Given the description of an element on the screen output the (x, y) to click on. 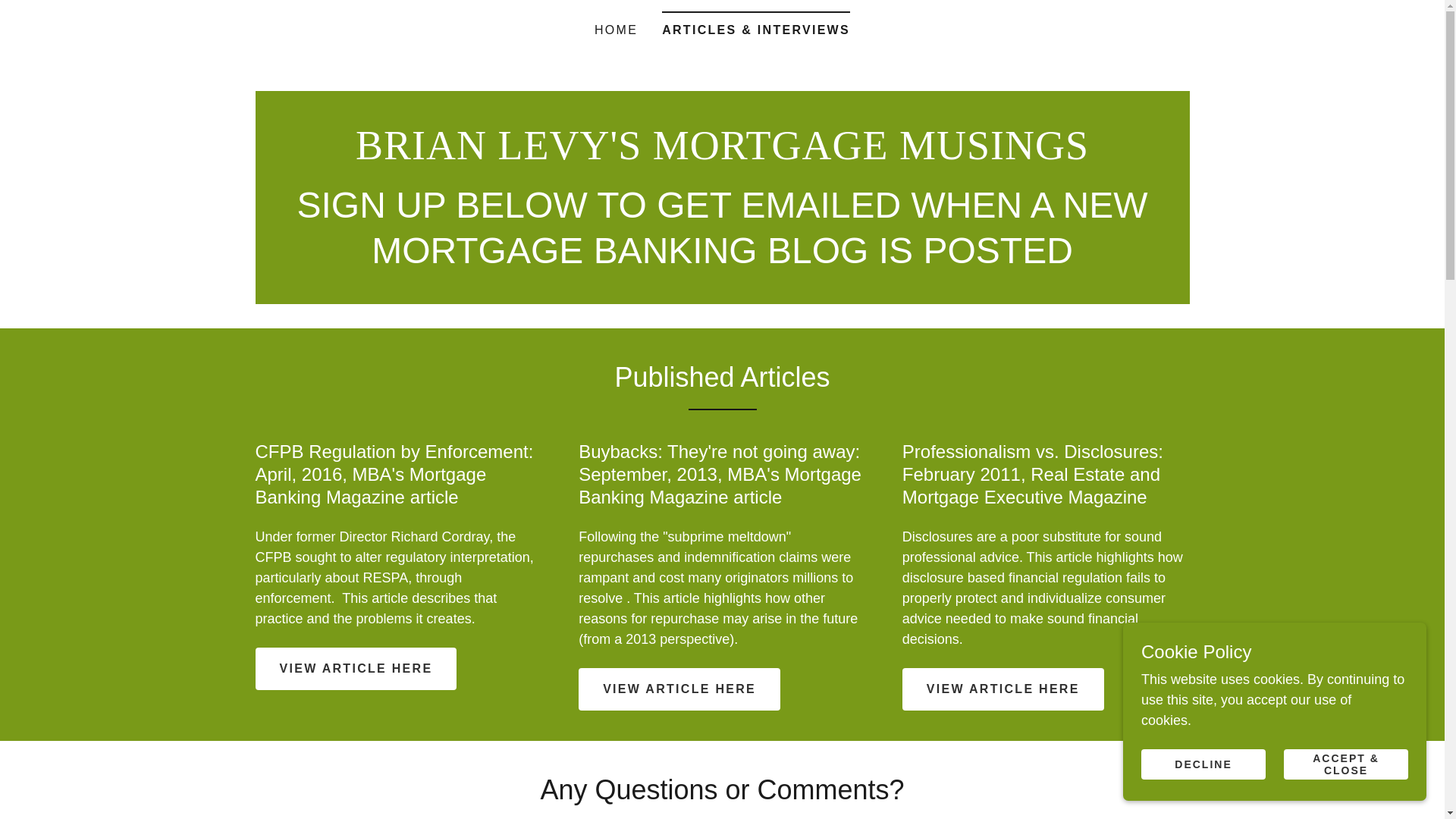
VIEW ARTICLE HERE (679, 689)
BRIAN LEVY'S MORTGAGE MUSINGS (721, 154)
DECLINE (1203, 764)
VIEW ARTICLE HERE (355, 668)
BRIAN LEVY'S MORTGAGE MUSINGS (721, 154)
HOME (615, 30)
VIEW ARTICLE HERE (1002, 689)
